Given the description of an element on the screen output the (x, y) to click on. 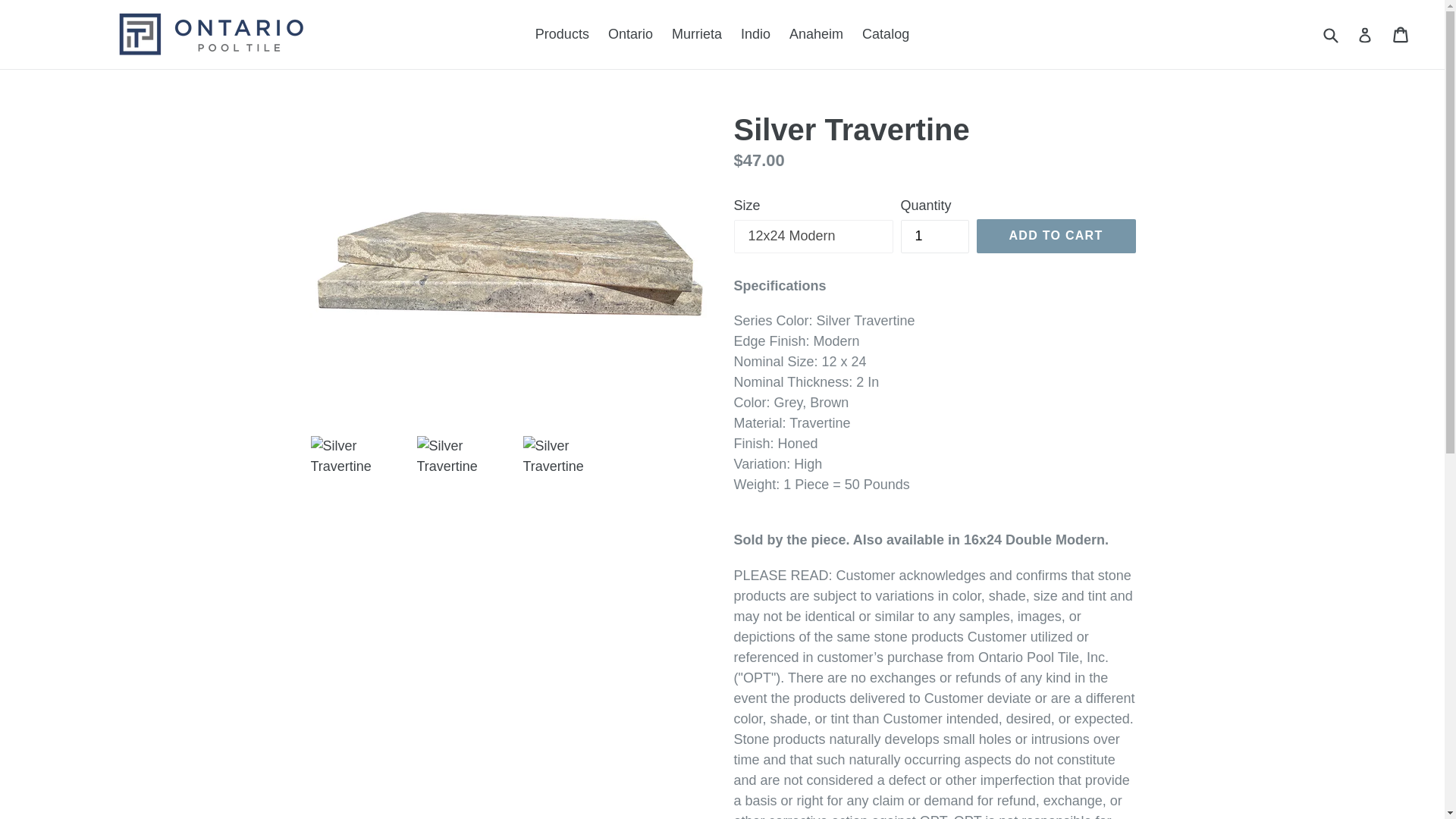
Catalog (885, 34)
Submit (1329, 34)
1 (935, 236)
ADD TO CART (1055, 235)
Anaheim (815, 34)
Log in (1364, 34)
Ontario (630, 34)
Indio (1401, 33)
Products (755, 34)
Murrieta (561, 34)
